Given the description of an element on the screen output the (x, y) to click on. 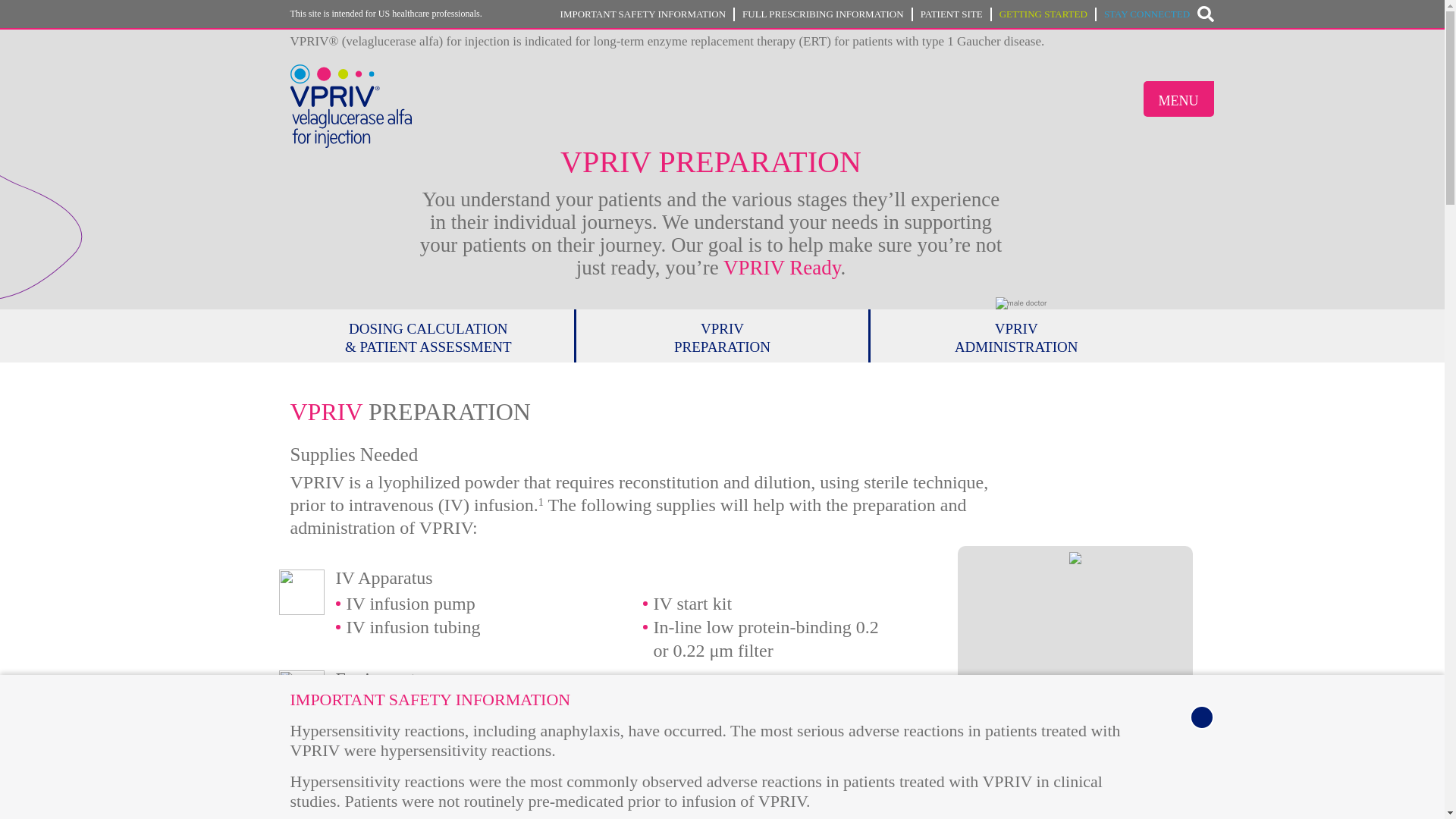
FULL PRESCRIBING INFORMATION (827, 14)
MENU (1178, 99)
GETTING STARTED (1047, 14)
STAY CONNECTED (1146, 14)
IMPORTANT SAFETY INFORMATION (647, 14)
PATIENT SITE (955, 14)
